Given the description of an element on the screen output the (x, y) to click on. 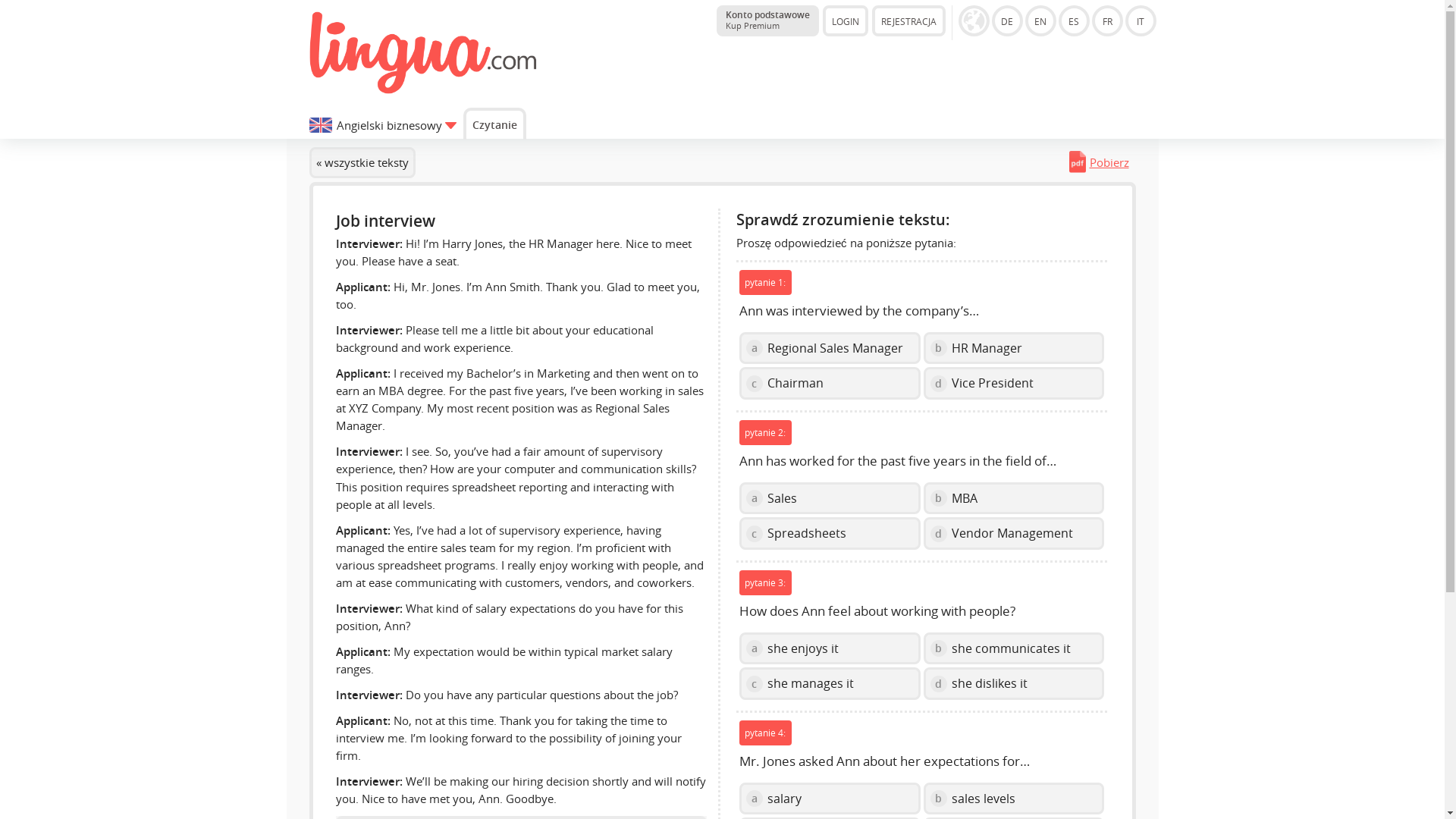
DE (1007, 20)
FR (1107, 20)
ES (767, 20)
Pobierz (1073, 20)
EN (1101, 162)
Czytanie (1041, 20)
IT (494, 123)
